Given the description of an element on the screen output the (x, y) to click on. 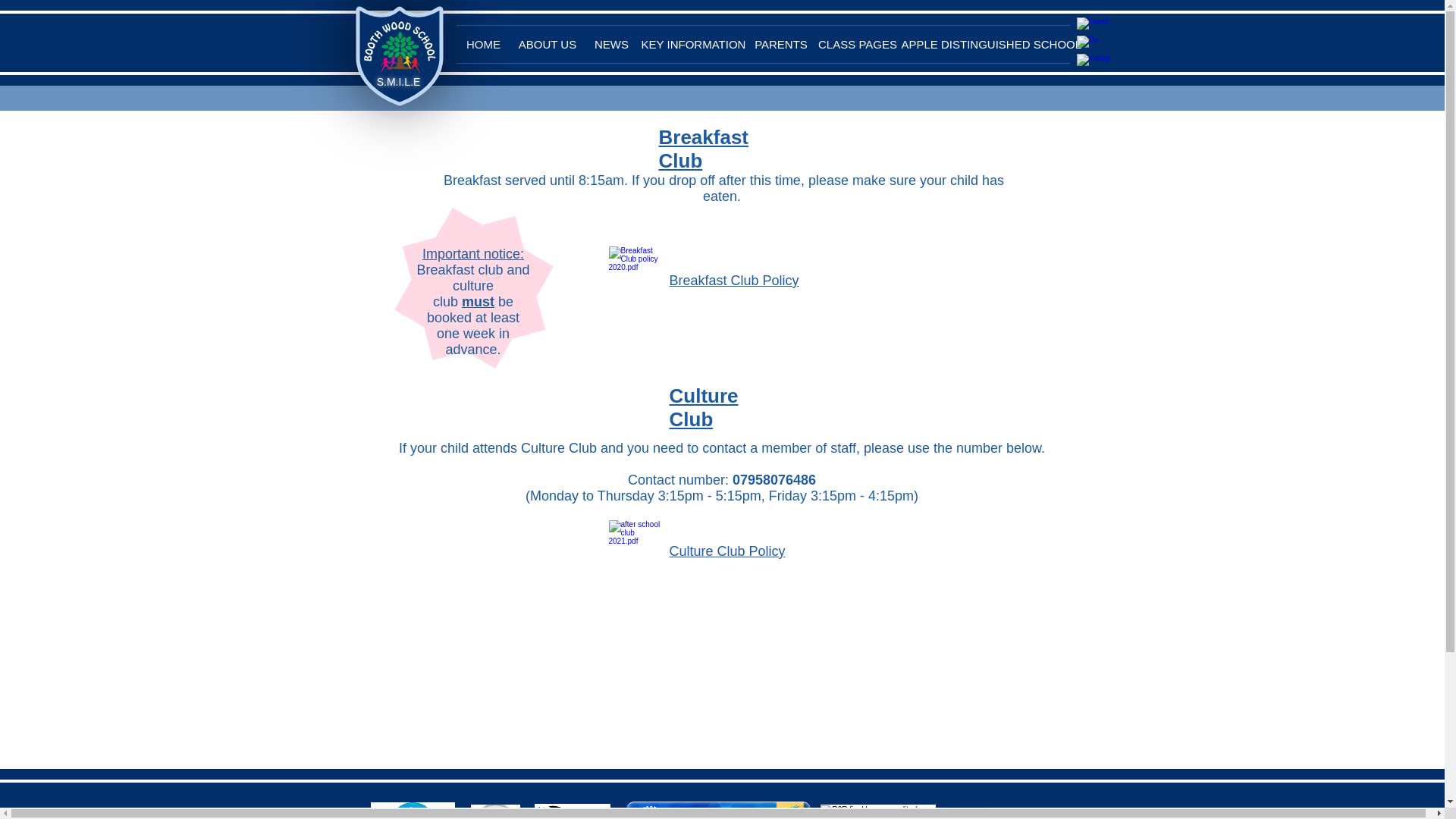
Breakfast Club policy 2020.pdf (637, 279)
HOME (484, 44)
after school club 2021.pdf (637, 553)
